Given the description of an element on the screen output the (x, y) to click on. 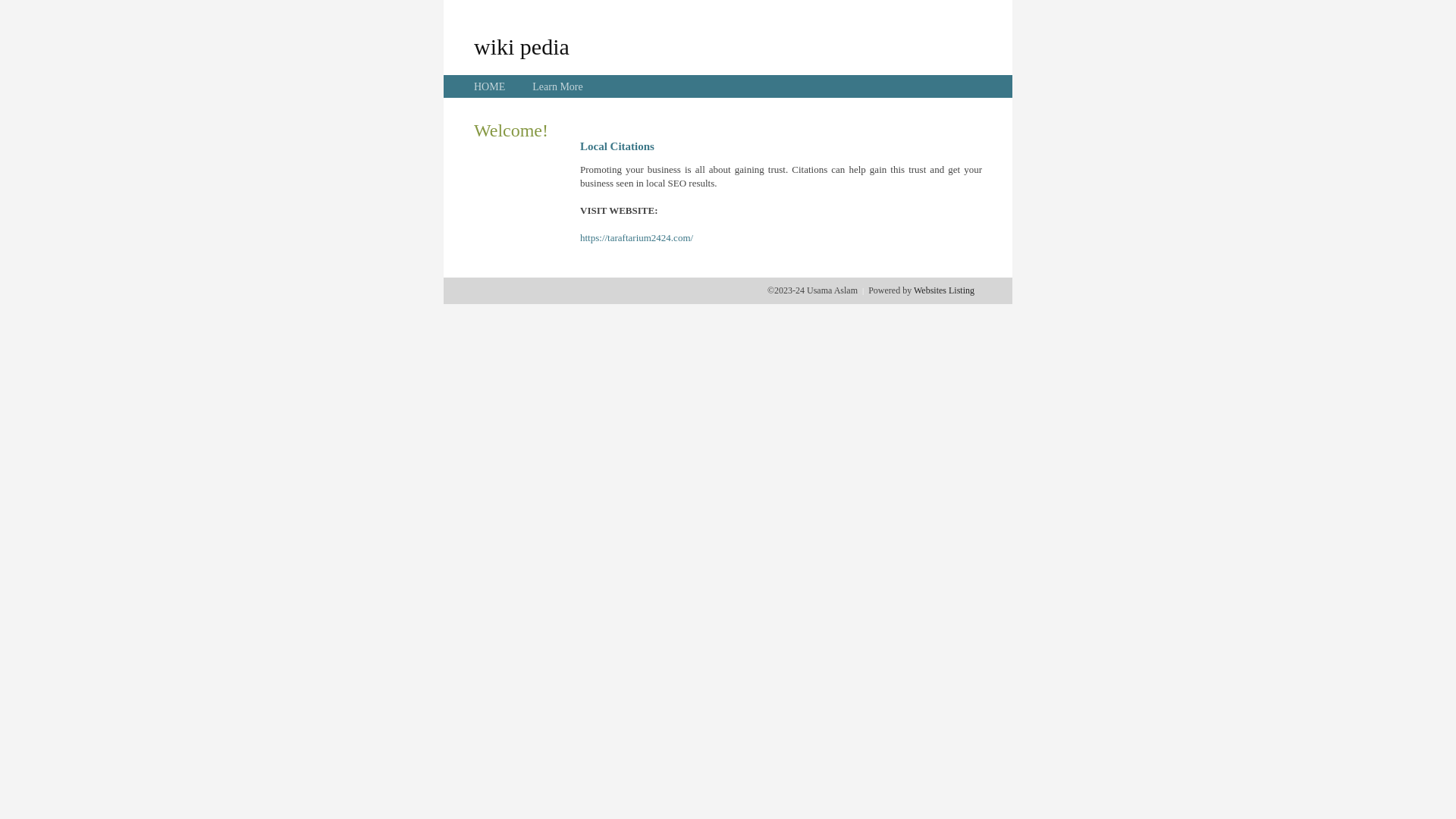
https://taraftarium2424.com/ Element type: text (636, 237)
Websites Listing Element type: text (943, 290)
HOME Element type: text (489, 86)
Learn More Element type: text (557, 86)
wiki pedia Element type: text (521, 46)
